Given the description of an element on the screen output the (x, y) to click on. 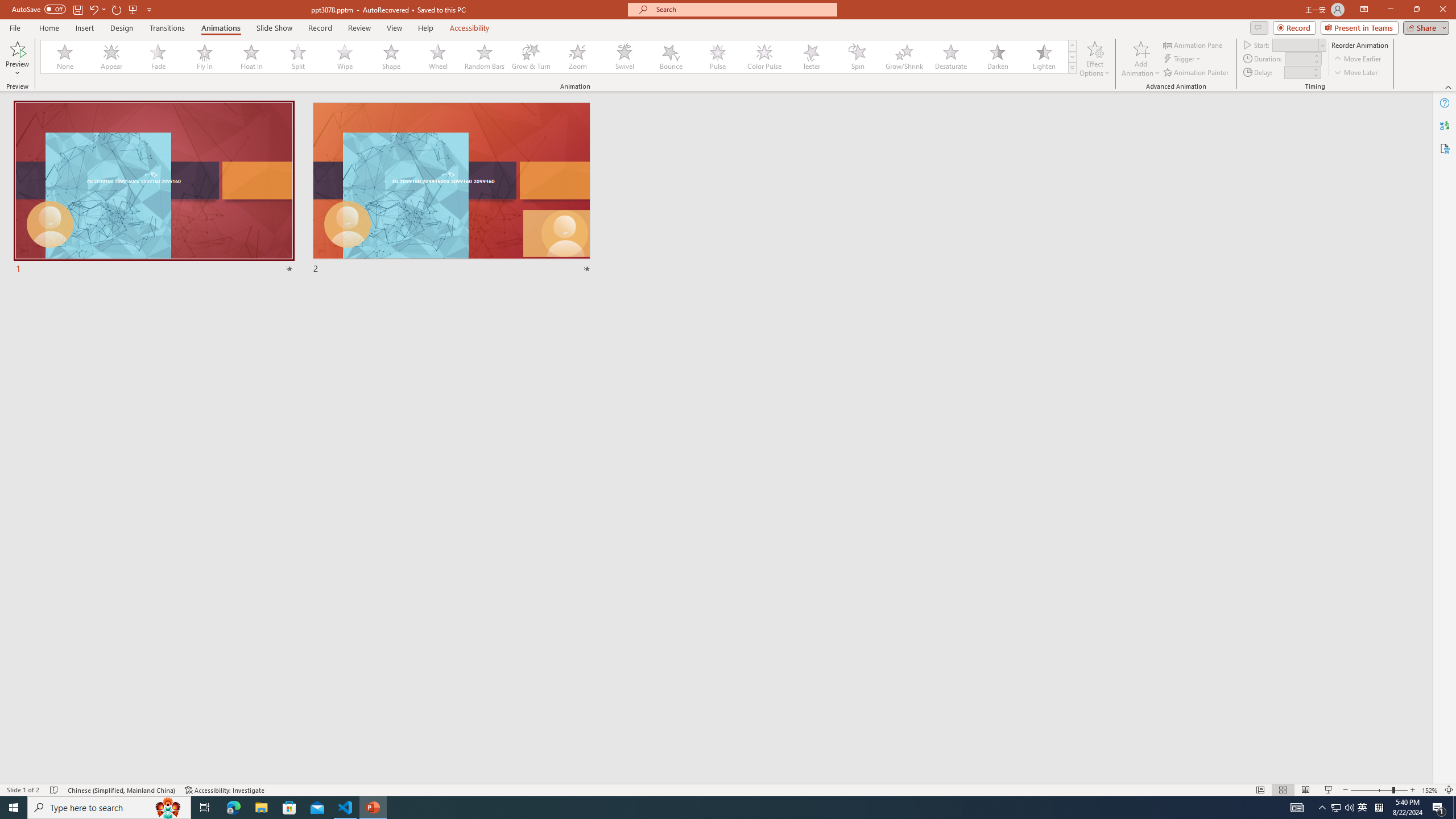
Animation Painter (1196, 72)
Grow & Turn (531, 56)
Move Later (1355, 72)
